Given the description of an element on the screen output the (x, y) to click on. 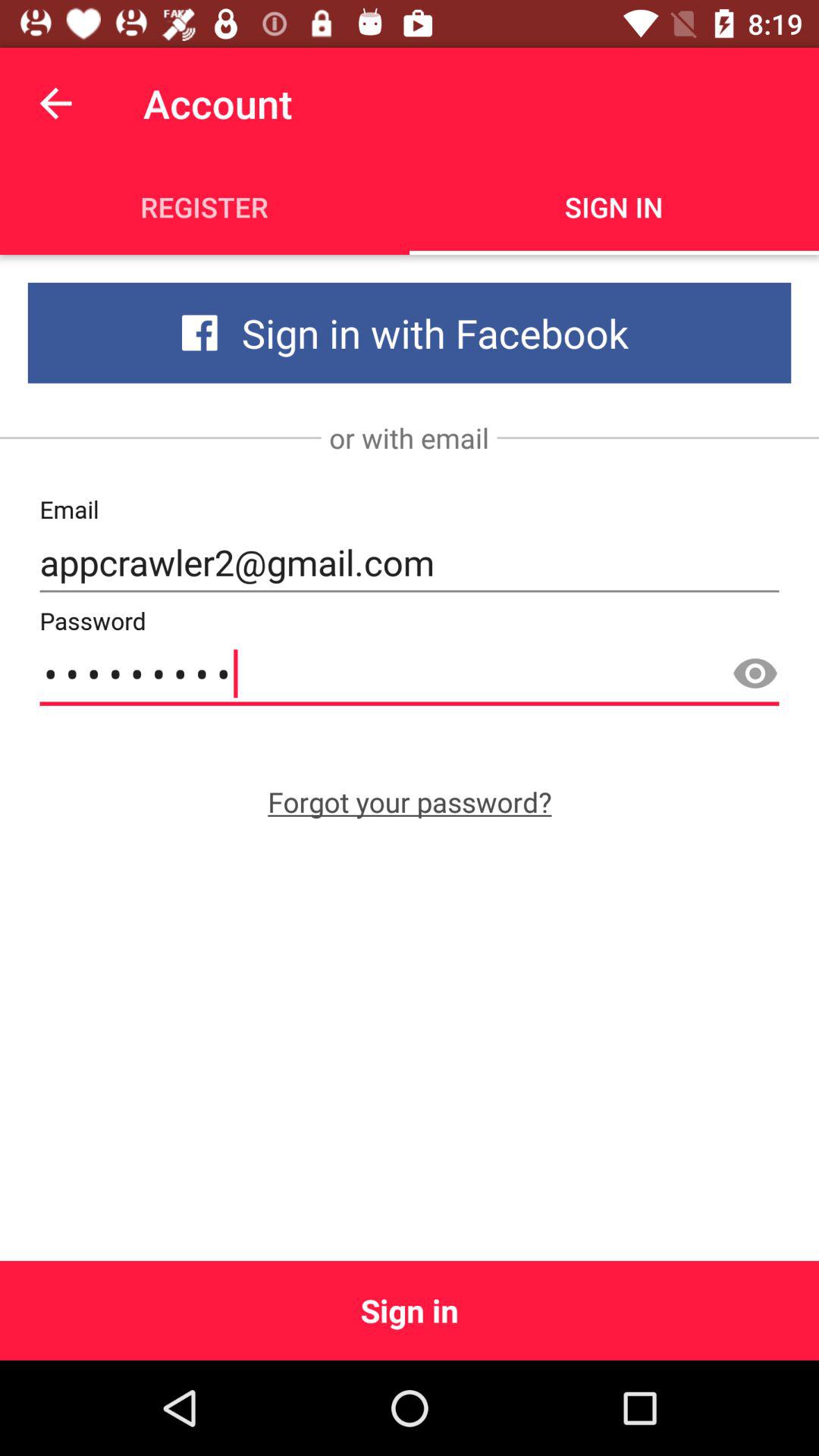
see password (755, 673)
